Given the description of an element on the screen output the (x, y) to click on. 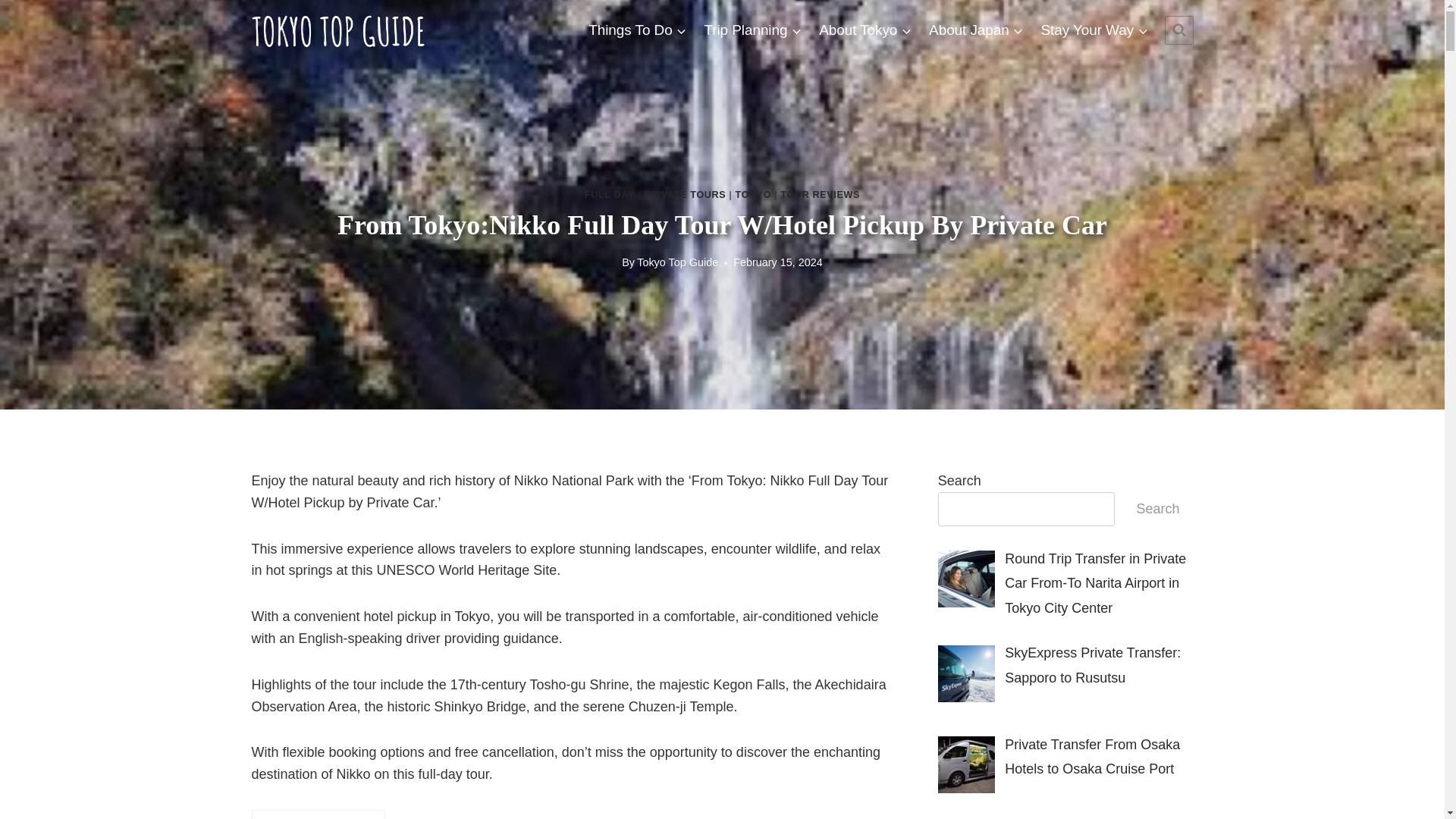
PRIVATE TOURS (684, 194)
FULL DAY (609, 194)
Things To Do (637, 29)
Trip Planning (752, 29)
TOUR REVIEWS (820, 194)
About Tokyo (865, 29)
Stay Your Way (1094, 29)
TOKYO (753, 194)
About Japan (976, 29)
